Given the description of an element on the screen output the (x, y) to click on. 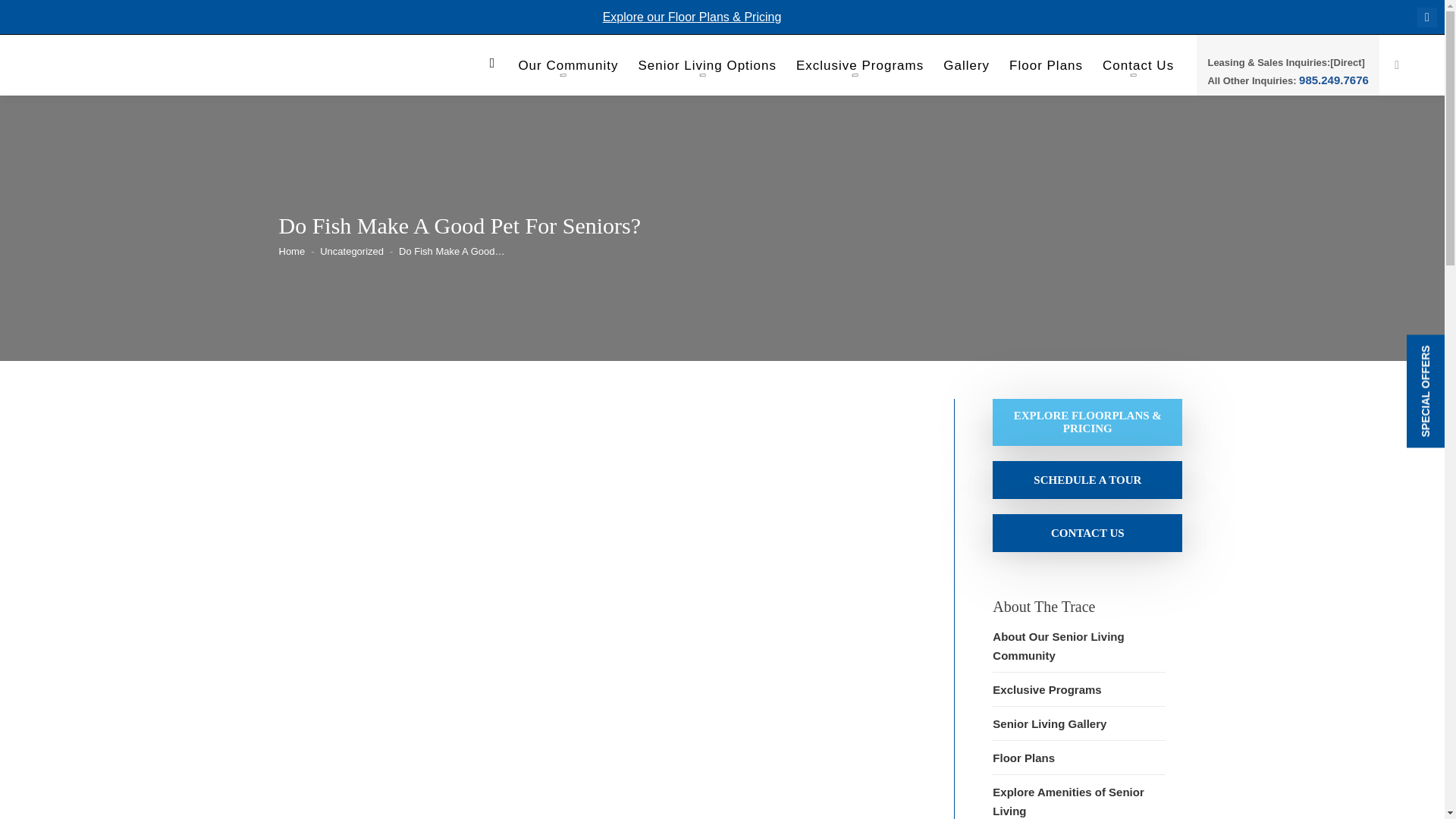
Our Community (567, 68)
Contact Us (1087, 532)
Facebook page opens in new window (1426, 17)
Facebook page opens in new window (1426, 17)
Schedule A Tour (1087, 479)
Senior Living Options (706, 68)
